Given the description of an element on the screen output the (x, y) to click on. 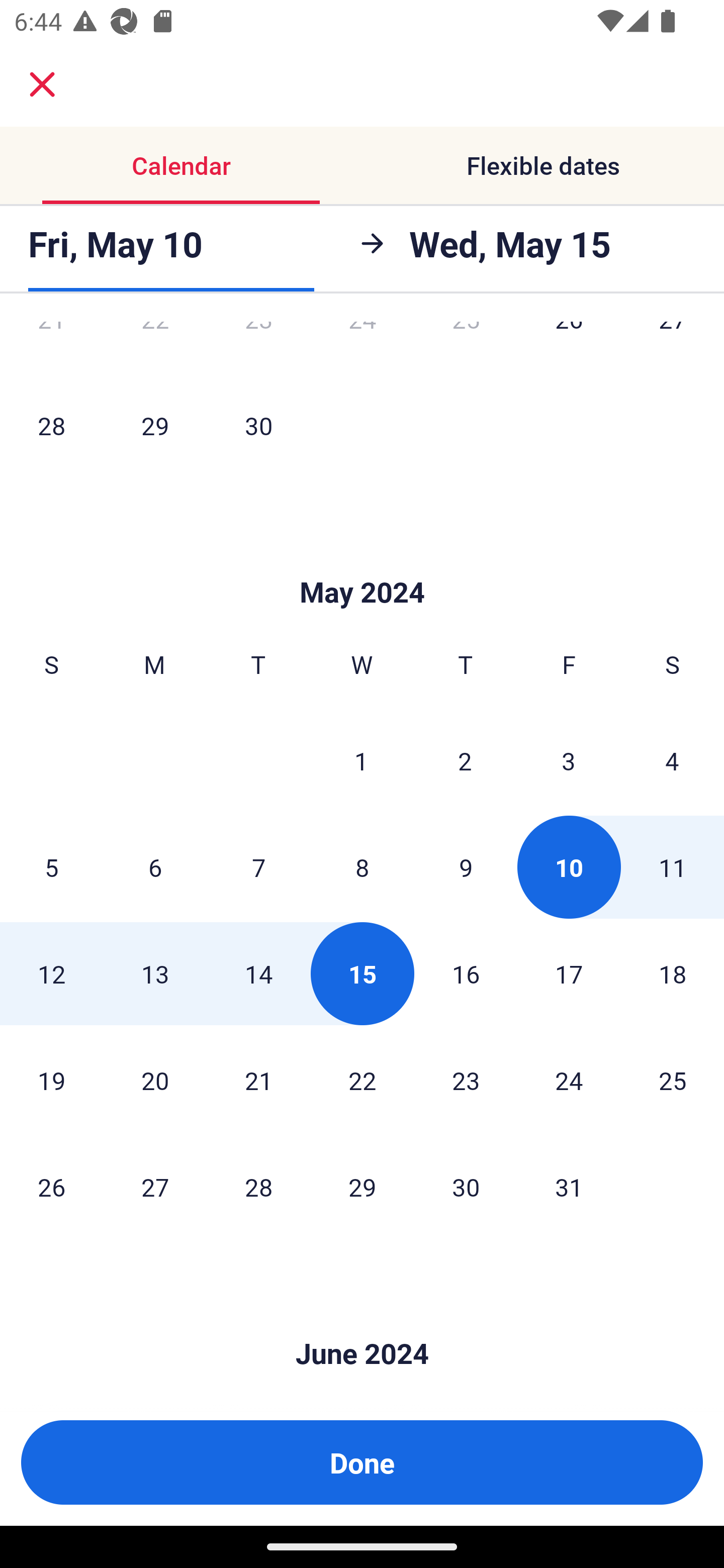
close. (42, 84)
Flexible dates (542, 164)
28 Sunday, April 28, 2024 (51, 424)
29 Monday, April 29, 2024 (155, 424)
30 Tuesday, April 30, 2024 (258, 424)
Skip to Done (362, 562)
1 Wednesday, May 1, 2024 (361, 760)
2 Thursday, May 2, 2024 (464, 760)
3 Friday, May 3, 2024 (568, 760)
4 Saturday, May 4, 2024 (672, 760)
5 Sunday, May 5, 2024 (51, 866)
6 Monday, May 6, 2024 (155, 866)
7 Tuesday, May 7, 2024 (258, 866)
8 Wednesday, May 8, 2024 (362, 866)
9 Thursday, May 9, 2024 (465, 866)
16 Thursday, May 16, 2024 (465, 973)
17 Friday, May 17, 2024 (569, 973)
18 Saturday, May 18, 2024 (672, 973)
19 Sunday, May 19, 2024 (51, 1080)
20 Monday, May 20, 2024 (155, 1080)
21 Tuesday, May 21, 2024 (258, 1080)
22 Wednesday, May 22, 2024 (362, 1080)
23 Thursday, May 23, 2024 (465, 1080)
24 Friday, May 24, 2024 (569, 1080)
25 Saturday, May 25, 2024 (672, 1080)
26 Sunday, May 26, 2024 (51, 1186)
27 Monday, May 27, 2024 (155, 1186)
28 Tuesday, May 28, 2024 (258, 1186)
29 Wednesday, May 29, 2024 (362, 1186)
30 Thursday, May 30, 2024 (465, 1186)
31 Friday, May 31, 2024 (569, 1186)
Skip to Done (362, 1323)
Done (361, 1462)
